Given the description of an element on the screen output the (x, y) to click on. 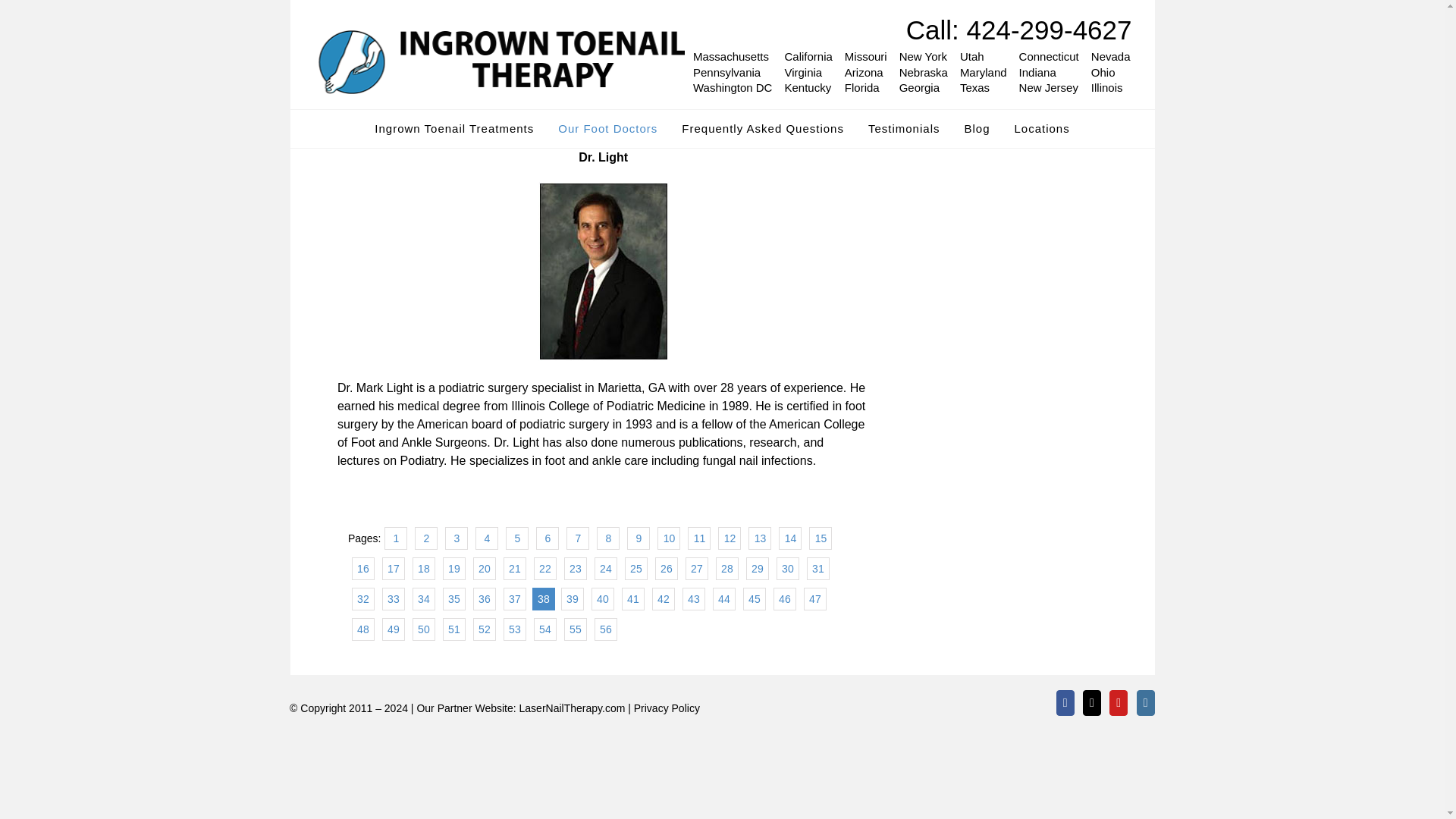
3 (456, 537)
Testimonials (903, 127)
2 (426, 537)
10 (668, 537)
Call: 424-299-4627 (1018, 30)
Our Foot Doctors (607, 127)
Ingrown Toenail Treatments (454, 127)
7 (577, 537)
11 (698, 537)
1 (395, 537)
